Given the description of an element on the screen output the (x, y) to click on. 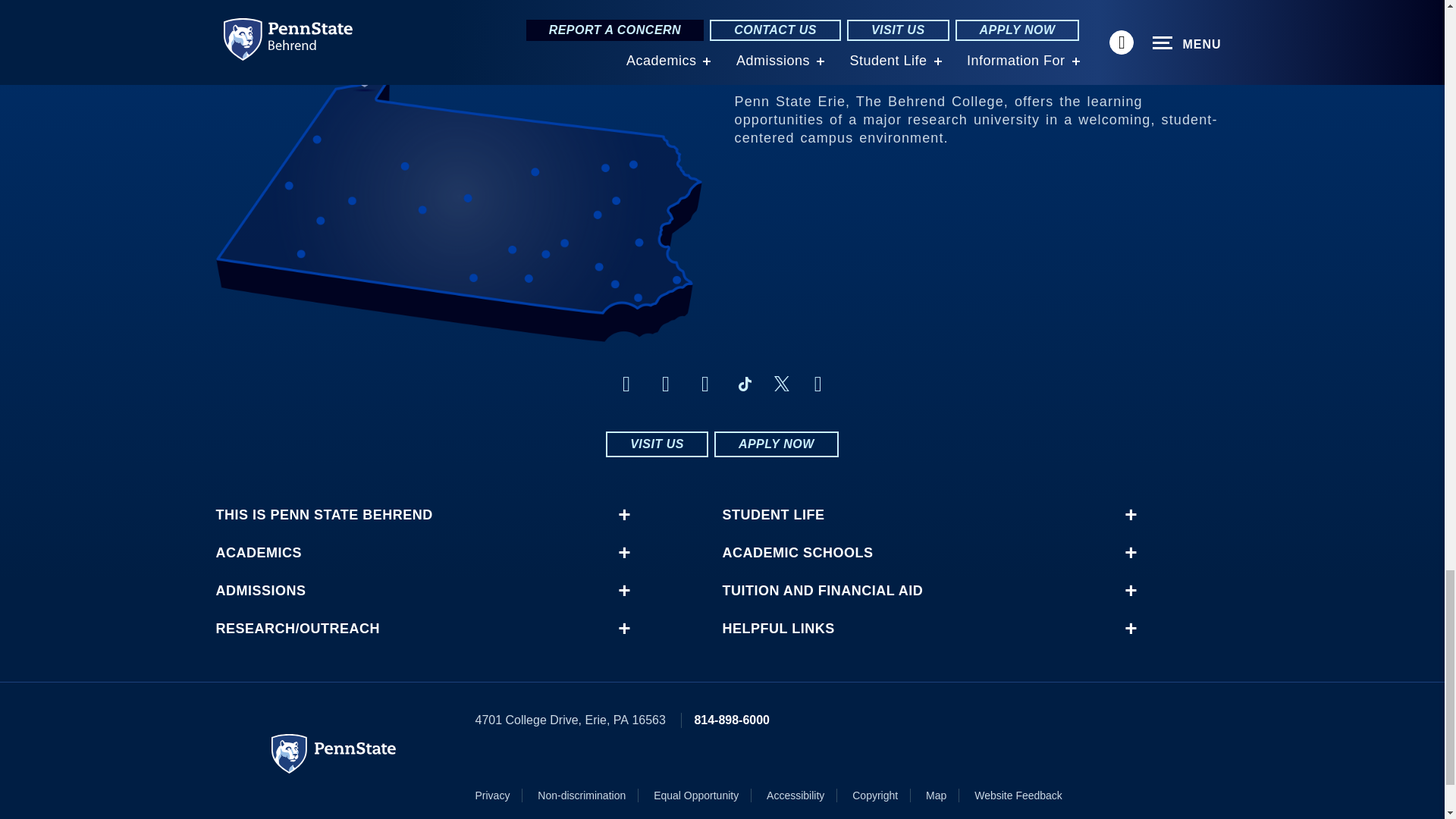
YouTube (818, 383)
Instagram (666, 383)
Penn State University (333, 753)
LinkedIn (705, 383)
TikTok (744, 384)
Facebook (626, 383)
